Given the description of an element on the screen output the (x, y) to click on. 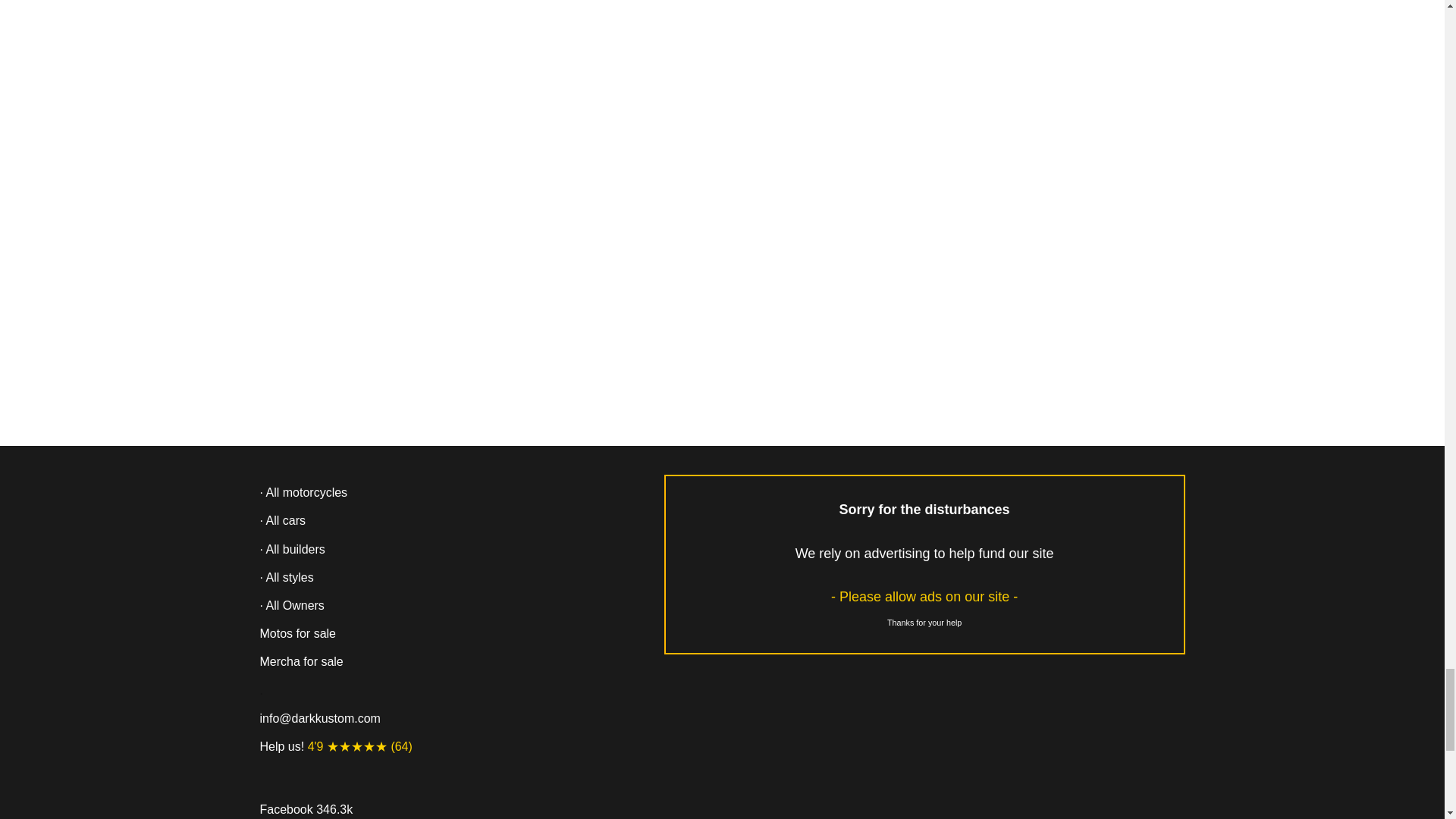
BMW Motorrad R 18 bobber build by Pier City Cycles (1032, 59)
Indian Scout 1200 Custom Bobber build by Moore Speed Racing (410, 72)
